Given the description of an element on the screen output the (x, y) to click on. 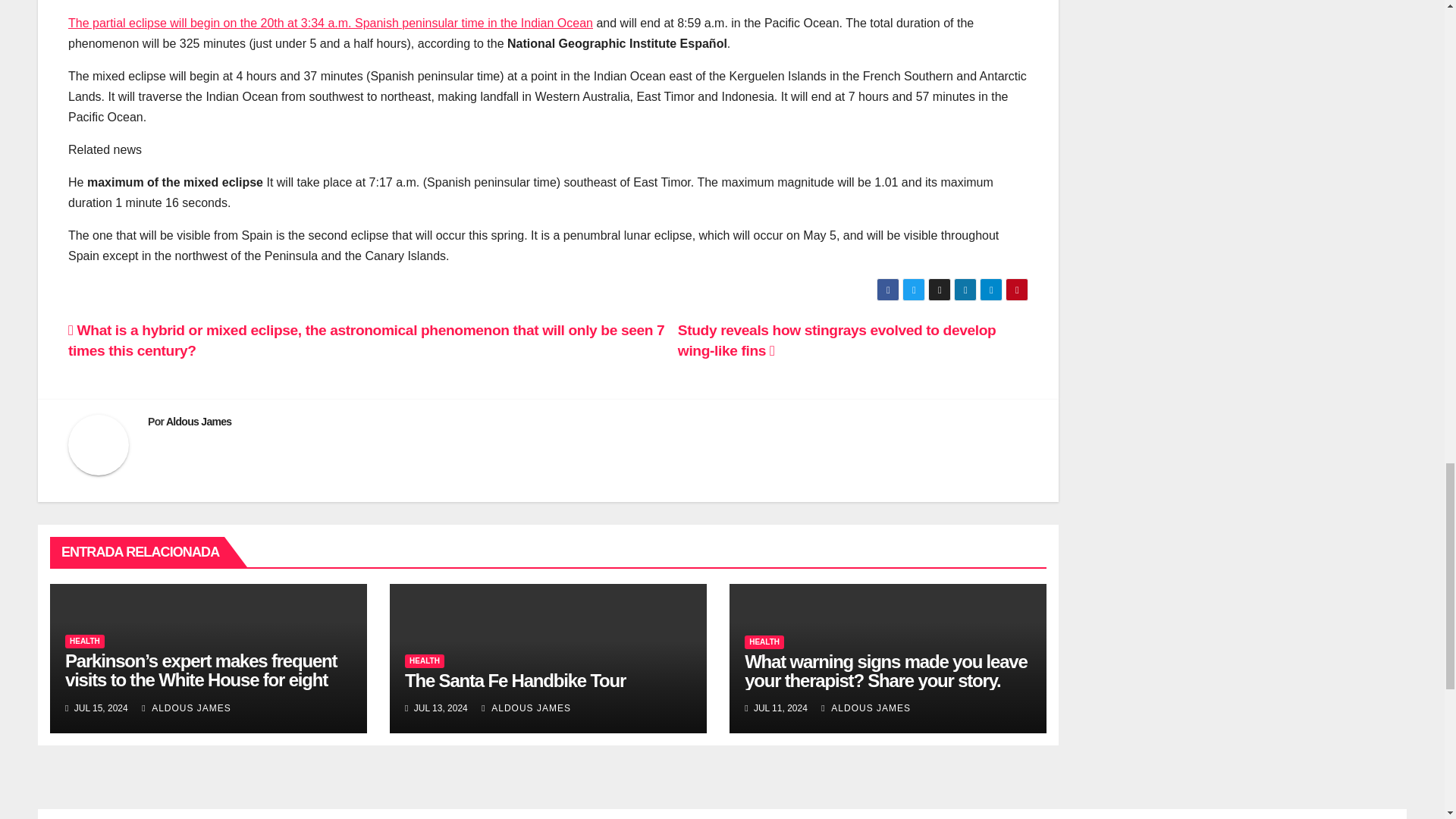
ALDOUS JAMES (186, 707)
HEALTH (424, 661)
The Santa Fe Handbike Tour (515, 680)
HEALTH (764, 642)
Aldous James (198, 421)
ALDOUS JAMES (866, 707)
HEALTH (84, 641)
ALDOUS JAMES (525, 707)
Permalink to: The Santa Fe Handbike Tour (515, 680)
